Given the description of an element on the screen output the (x, y) to click on. 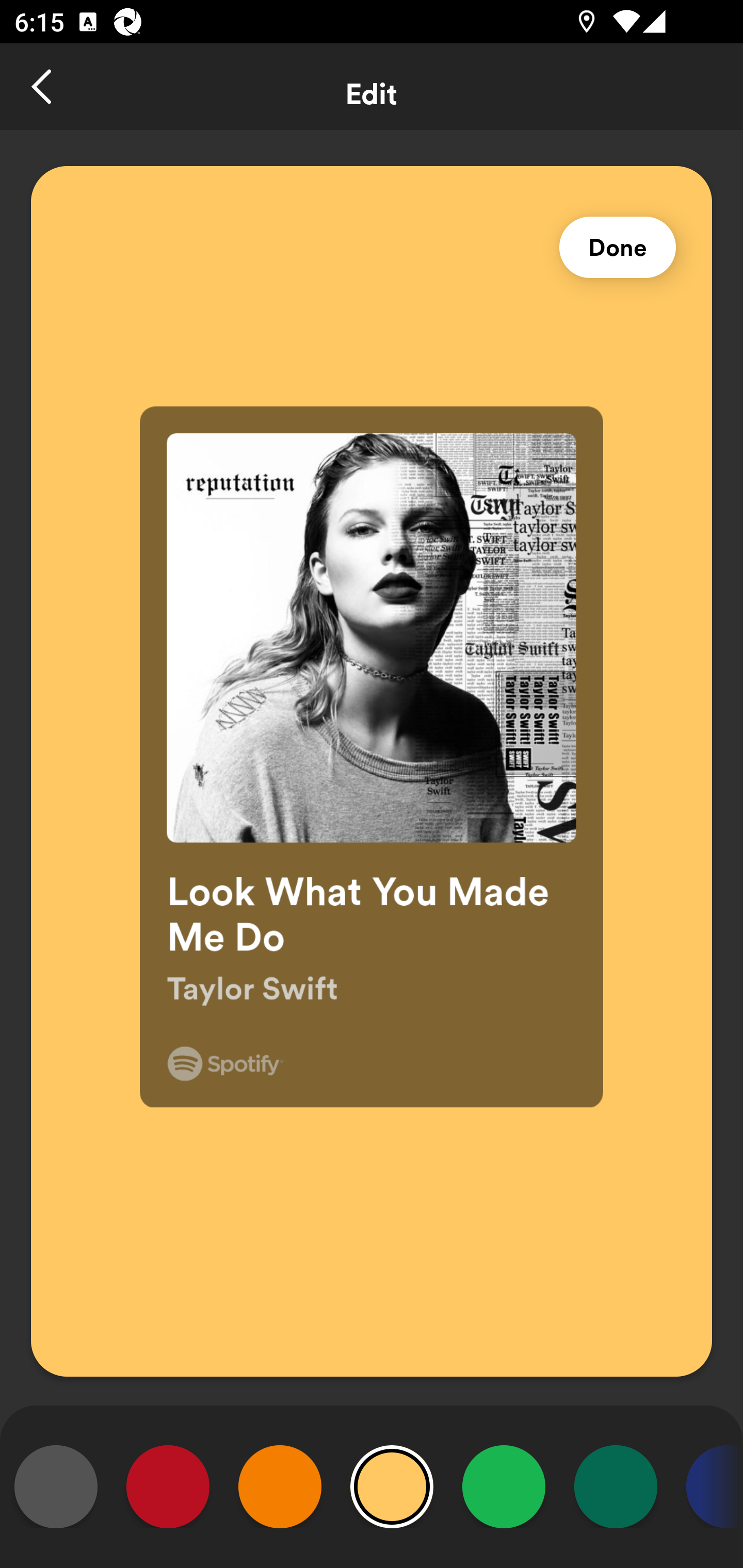
Close the Now Playing View (43, 86)
Done (617, 247)
